Given the description of an element on the screen output the (x, y) to click on. 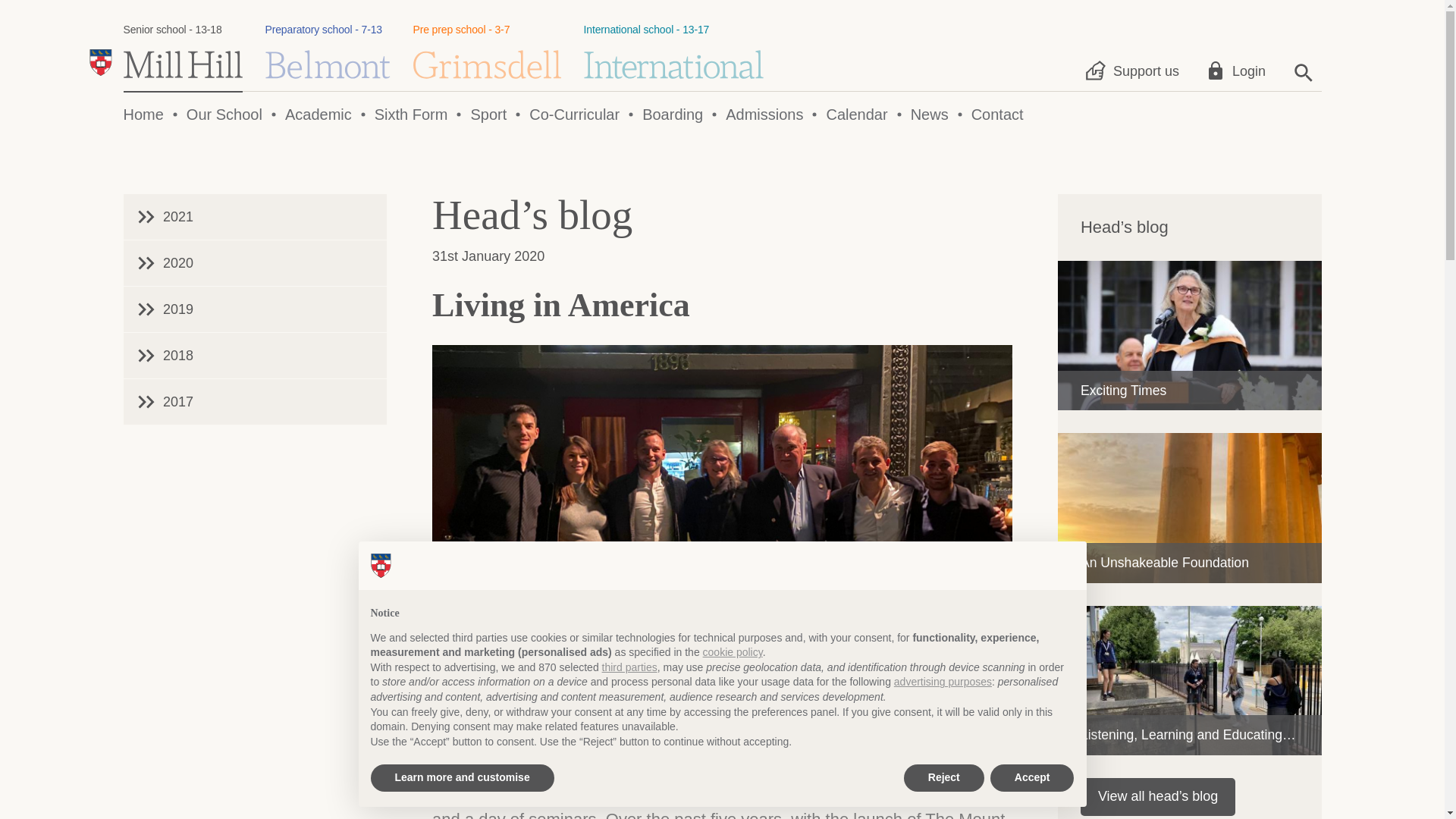
An Unshakeable Foundation (1190, 507)
Next image (955, 649)
News (930, 114)
Support us (1134, 71)
Admissions (764, 114)
Sport (488, 114)
Expand (992, 649)
Previous image (915, 649)
Contact (997, 114)
Co-Curricular (574, 114)
Boarding (327, 50)
Our School (672, 114)
Exciting Times (224, 114)
